Given the description of an element on the screen output the (x, y) to click on. 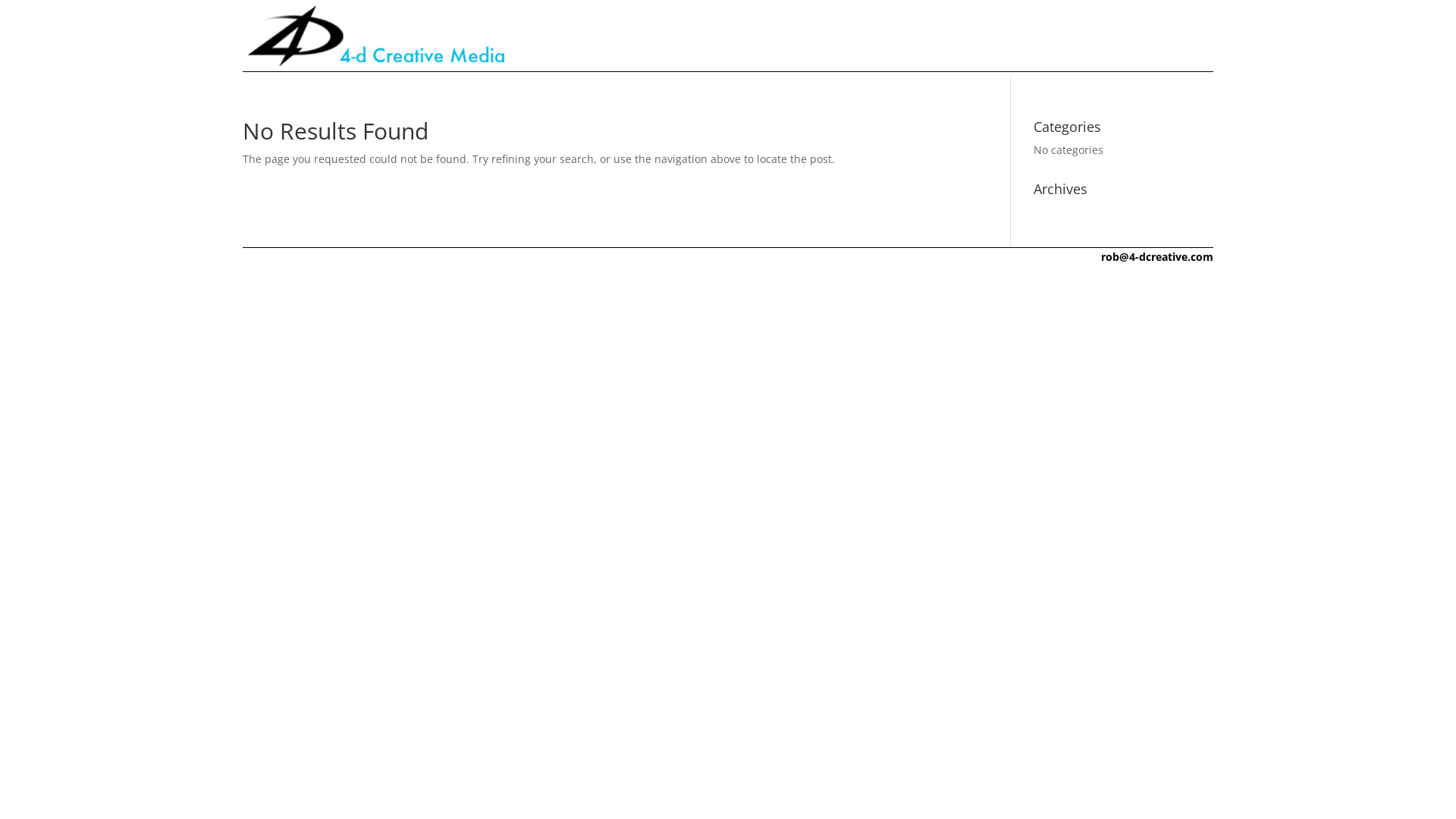
rob@4-dcreative.com Element type: text (1157, 256)
